Given the description of an element on the screen output the (x, y) to click on. 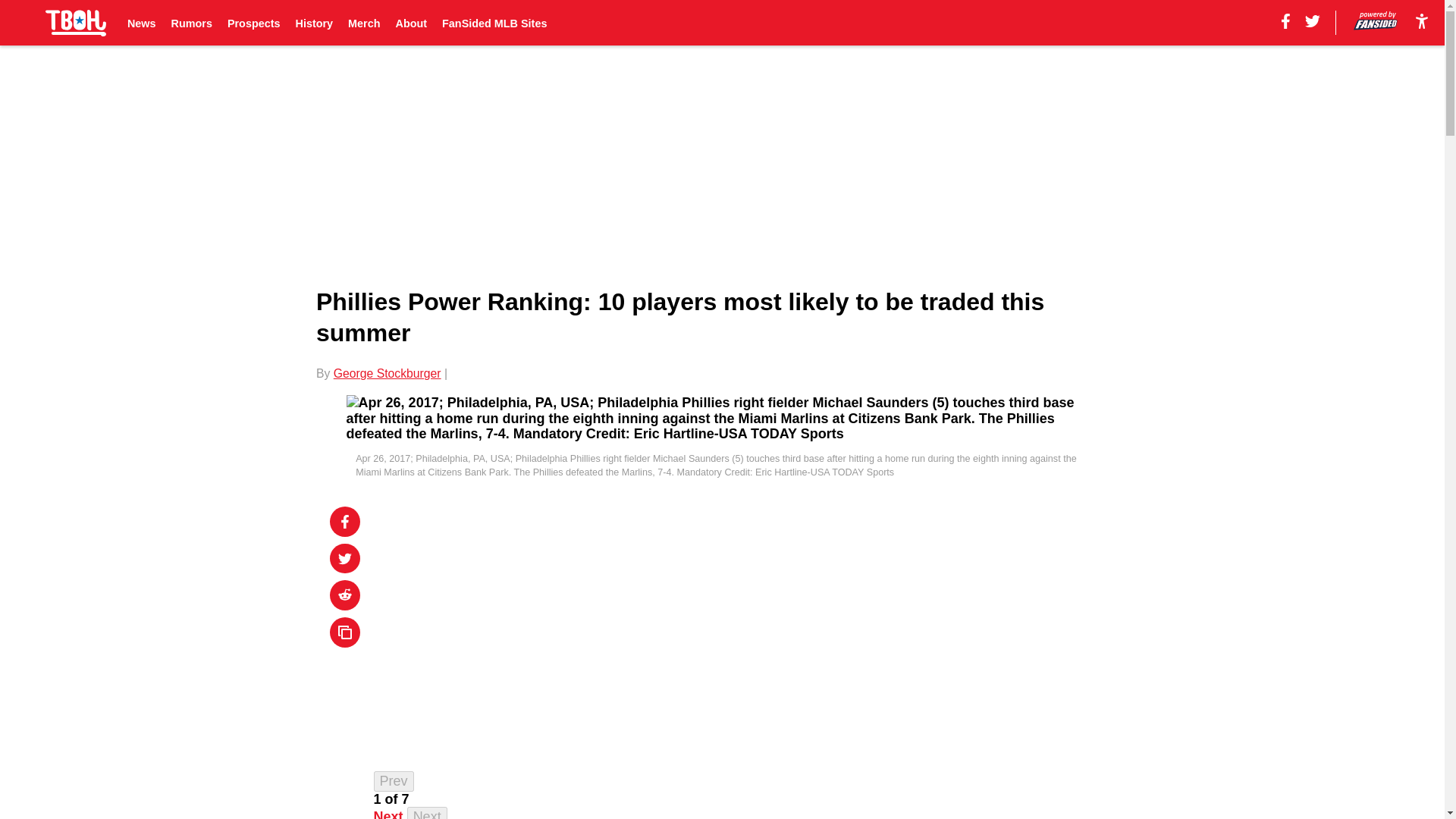
George Stockburger (387, 373)
Prospects (254, 23)
News (141, 23)
Next (426, 812)
About (412, 23)
Rumors (191, 23)
Next (388, 814)
History (314, 23)
Prev (393, 781)
FanSided MLB Sites (494, 23)
